Given the description of an element on the screen output the (x, y) to click on. 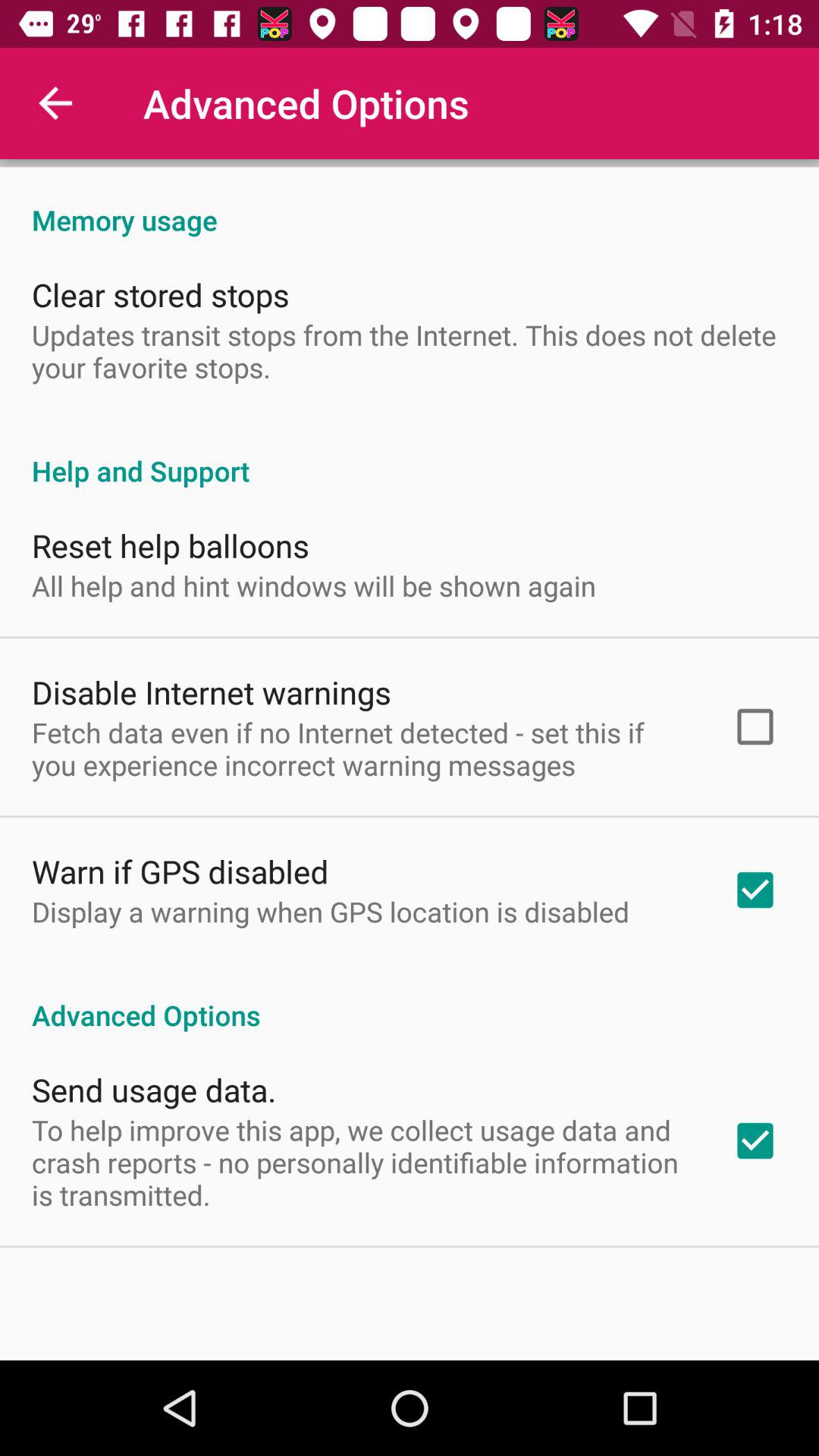
select the disable internet warnings icon (211, 691)
